Given the description of an element on the screen output the (x, y) to click on. 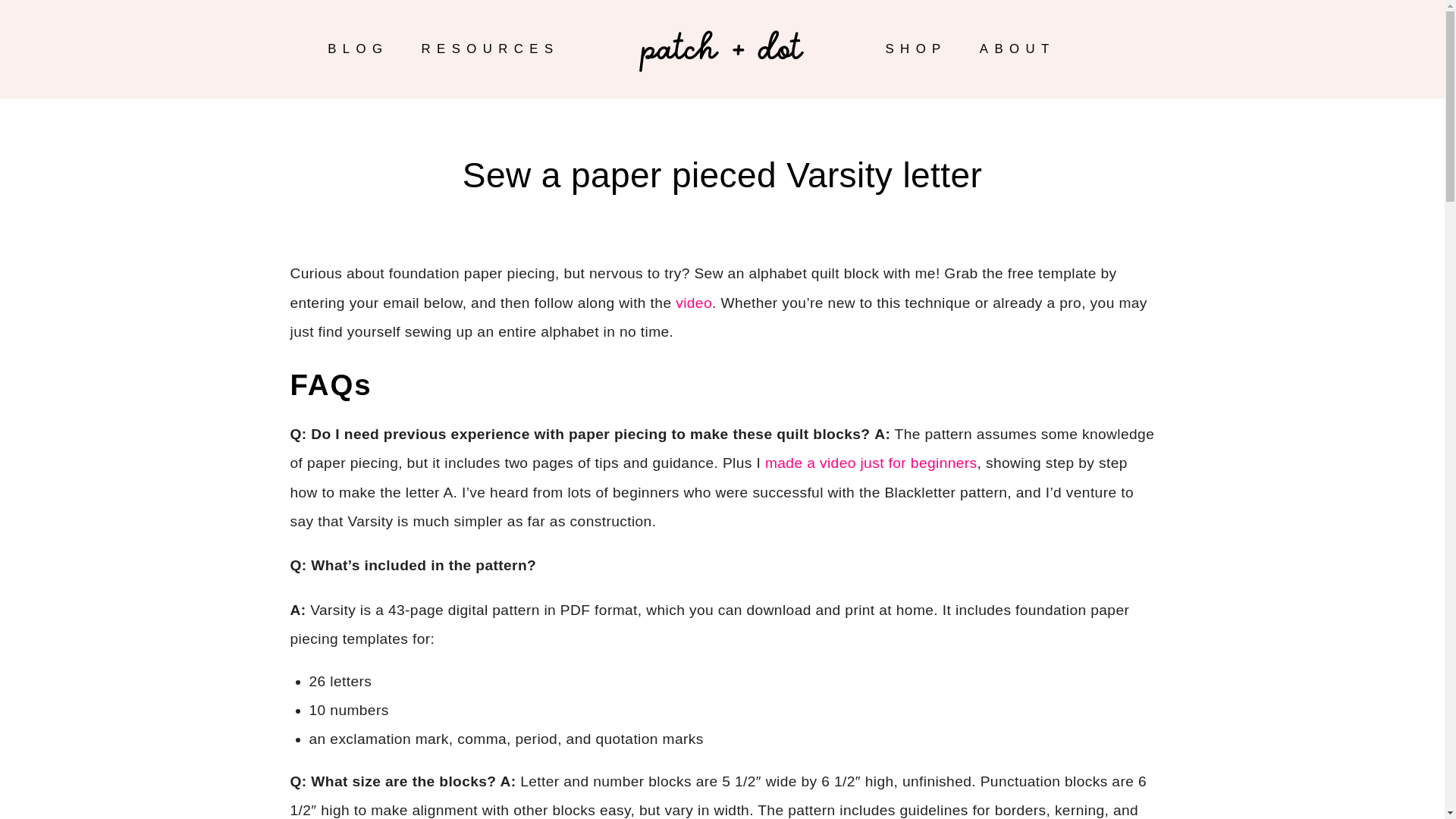
Shop (915, 48)
SHOP (915, 48)
video (693, 302)
RESOURCES (489, 48)
made a video just for beginners (870, 462)
ABOUT (1017, 48)
Blog (356, 48)
BLOG (356, 48)
